Given the description of an element on the screen output the (x, y) to click on. 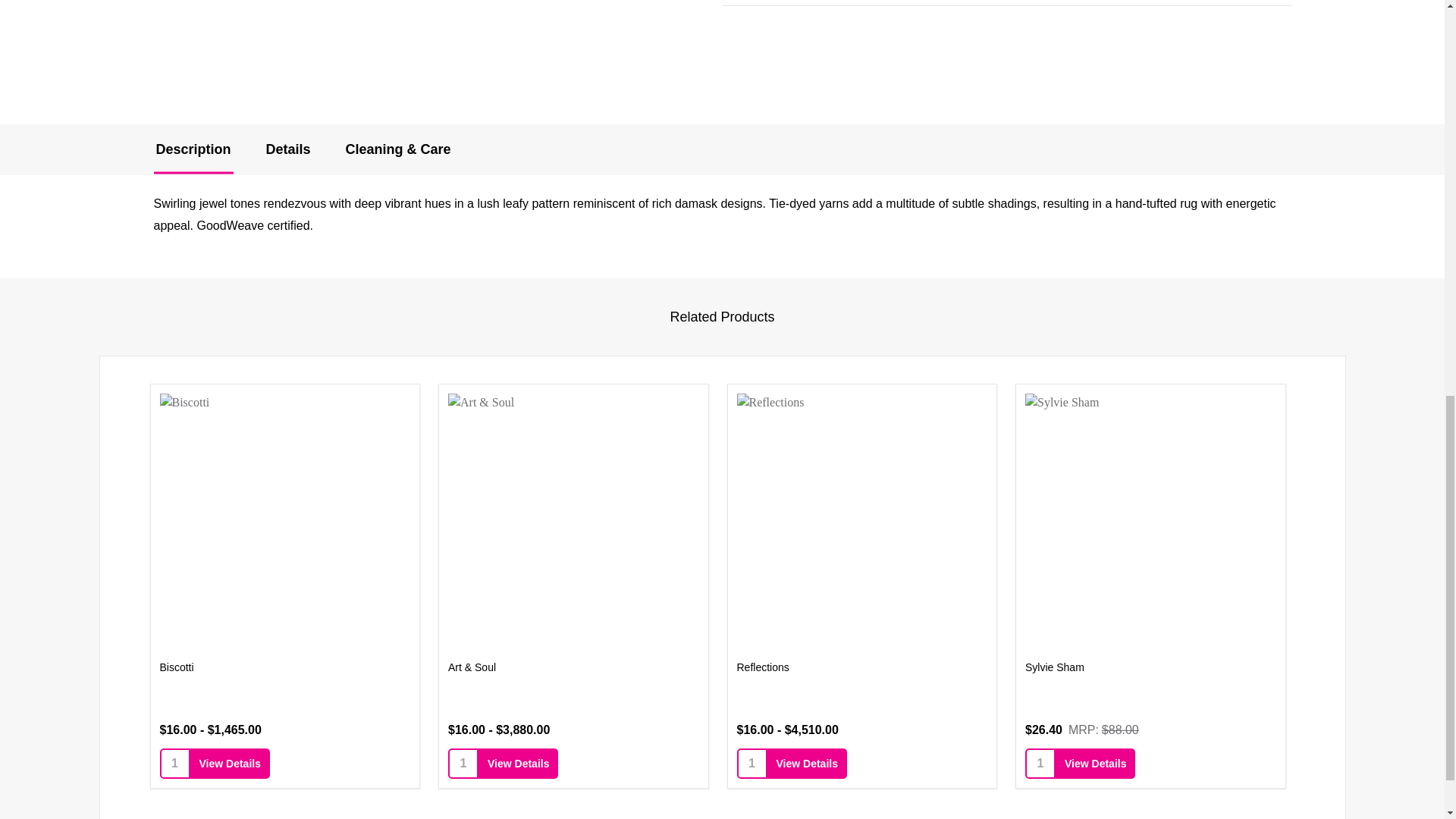
1 (463, 763)
1 (173, 763)
1 (751, 763)
1 (1040, 763)
